Given the description of an element on the screen output the (x, y) to click on. 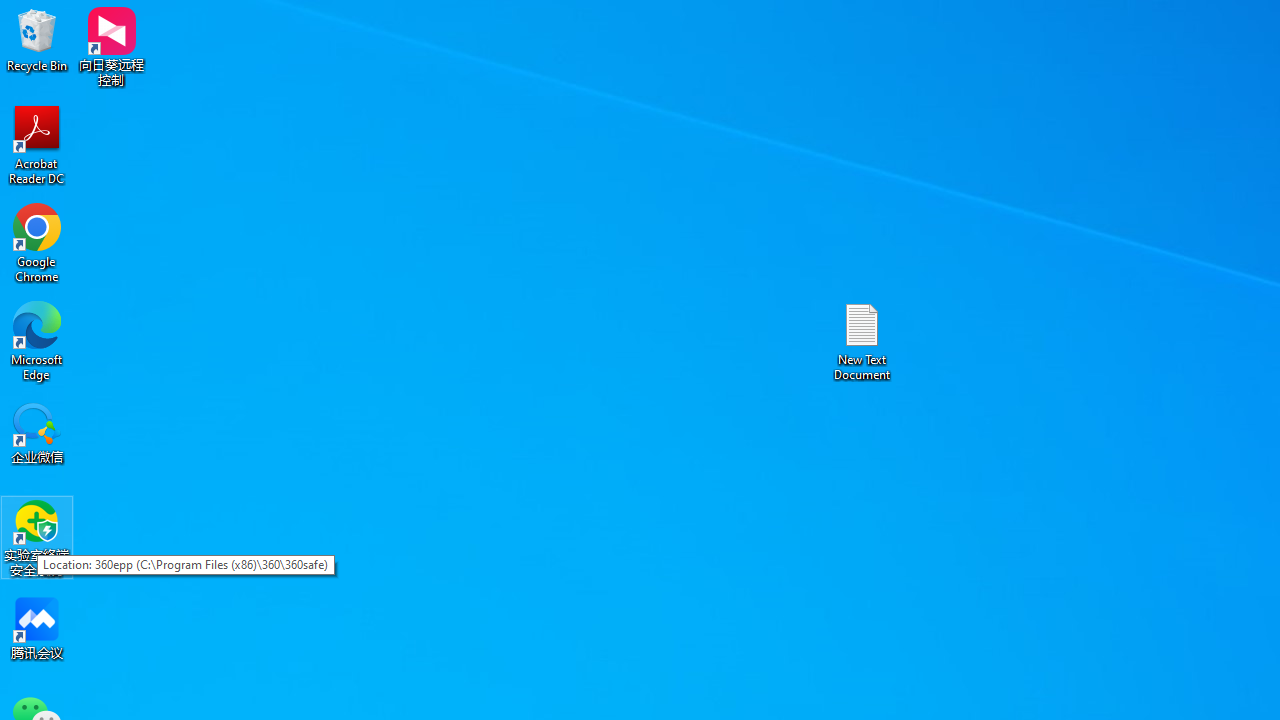
New Text Document (861, 340)
Microsoft Edge (37, 340)
Acrobat Reader DC (37, 144)
Recycle Bin (37, 39)
Google Chrome (37, 242)
